Given the description of an element on the screen output the (x, y) to click on. 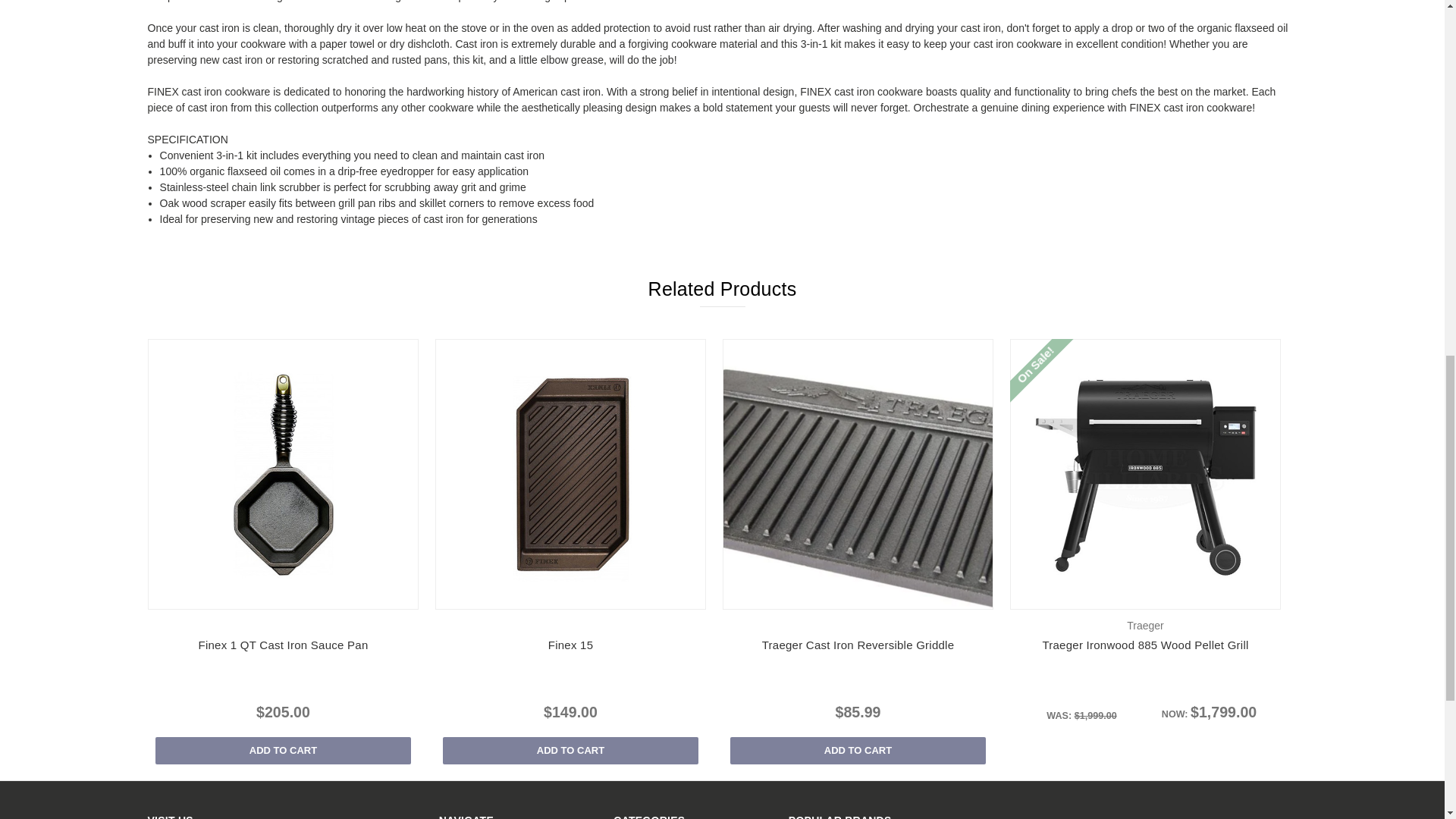
Finex 1 QT Cast Iron Sauce Pan (282, 474)
Finex 15 (569, 474)
Traeger Cast Iron Reversible Griddle (857, 474)
